Given the description of an element on the screen output the (x, y) to click on. 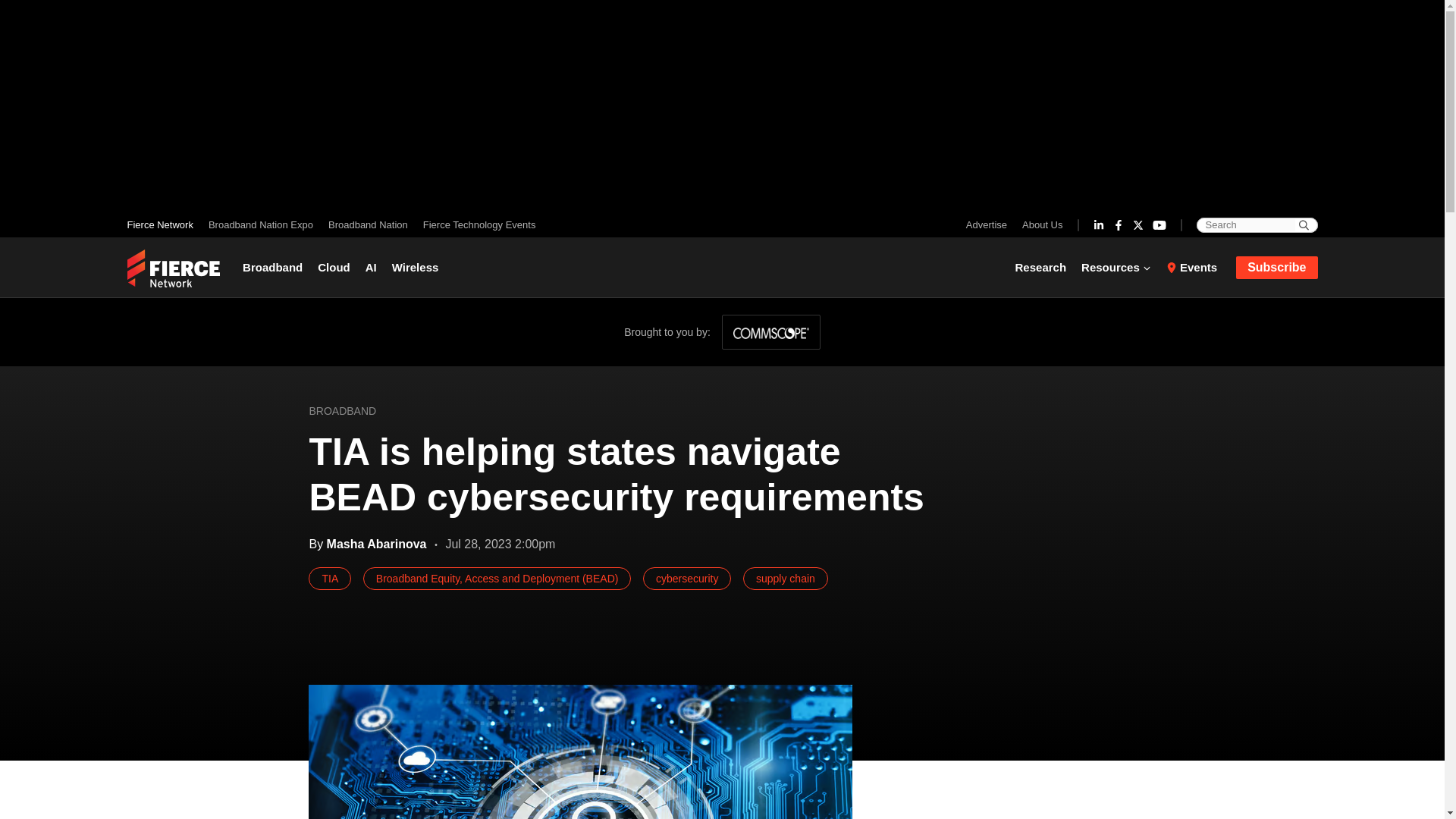
Fierce Technology Events (474, 225)
Resources (1116, 266)
Cloud (334, 266)
AI (371, 266)
Broadband (276, 266)
About Us (1038, 225)
Broadband Nation (367, 225)
Wireless (415, 266)
Fierce Network (164, 225)
Broadband Nation Expo (260, 225)
